Given the description of an element on the screen output the (x, y) to click on. 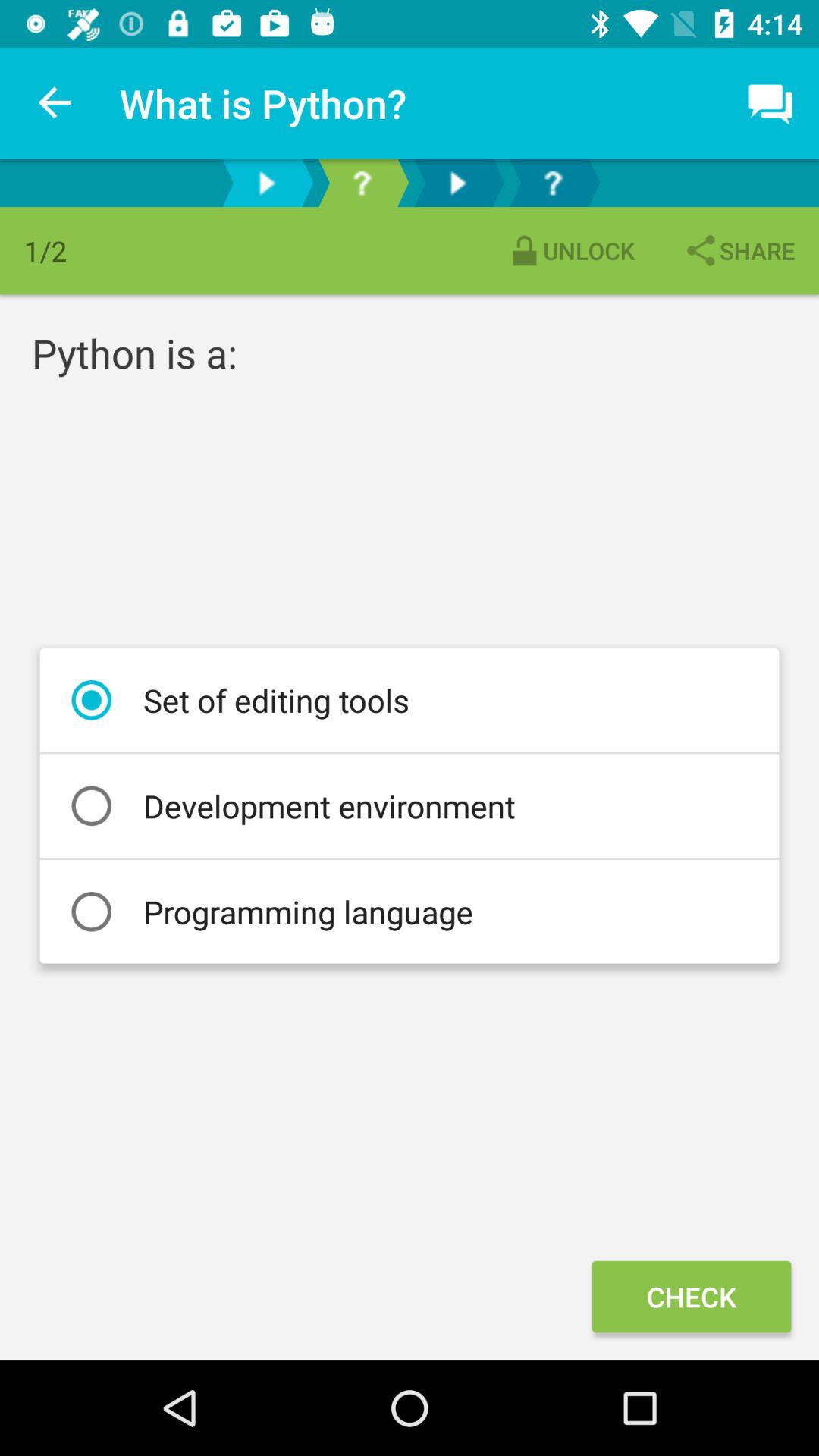
turn on the icon above 1/2 item (55, 103)
